Given the description of an element on the screen output the (x, y) to click on. 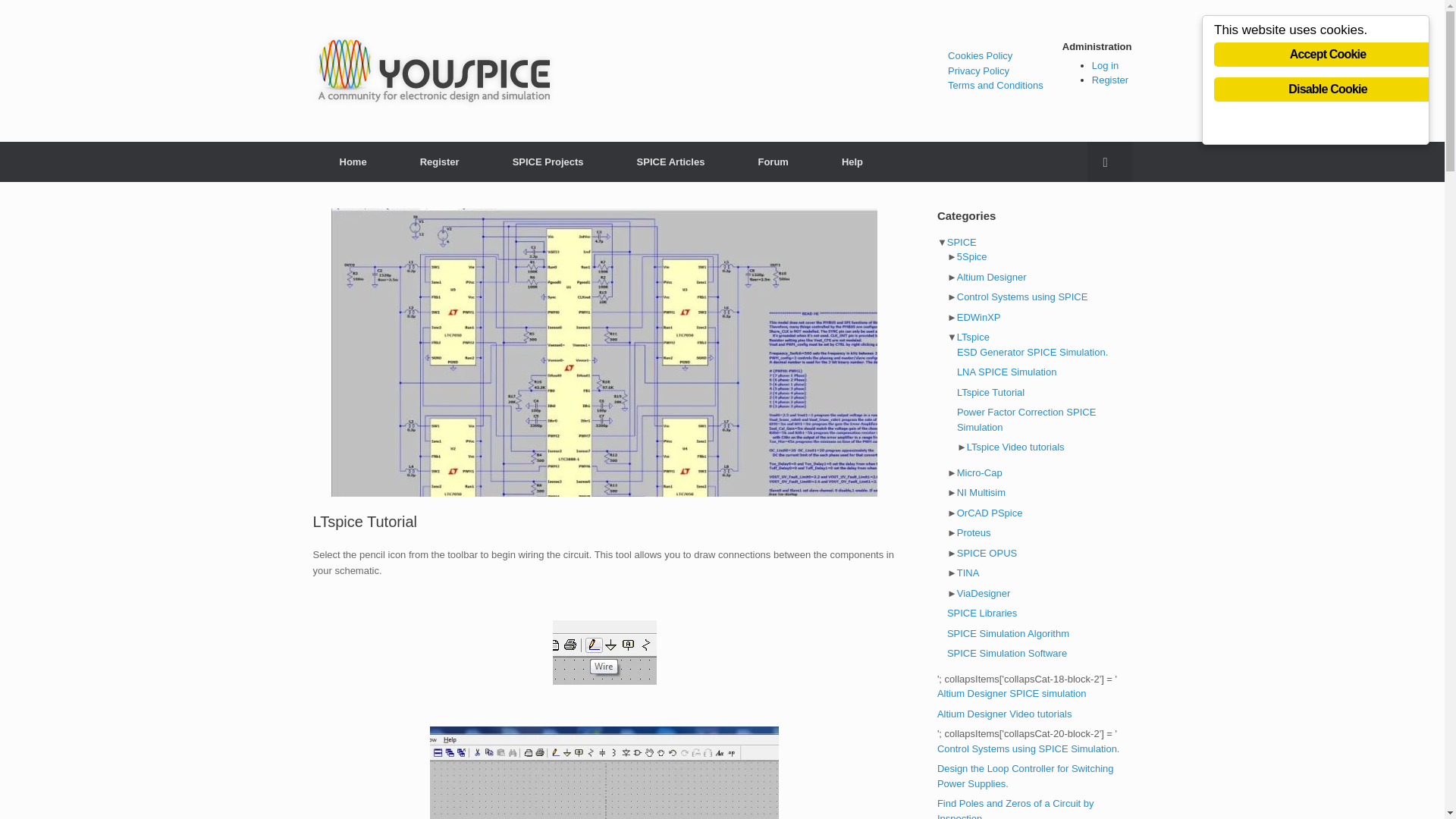
Control Systems using SPICE (1021, 296)
SPICE Articles (671, 161)
Power Factor Correction SPICE Simulation (1026, 419)
video tutorials about LTspice simulations (1015, 446)
Register (1110, 79)
Altium Designer (991, 276)
LTspice (973, 337)
NI Multisim SPICE simulation articles (981, 491)
EDWinXP articles and documentation (978, 316)
LNA SPICE Simulation (1006, 371)
